Given the description of an element on the screen output the (x, y) to click on. 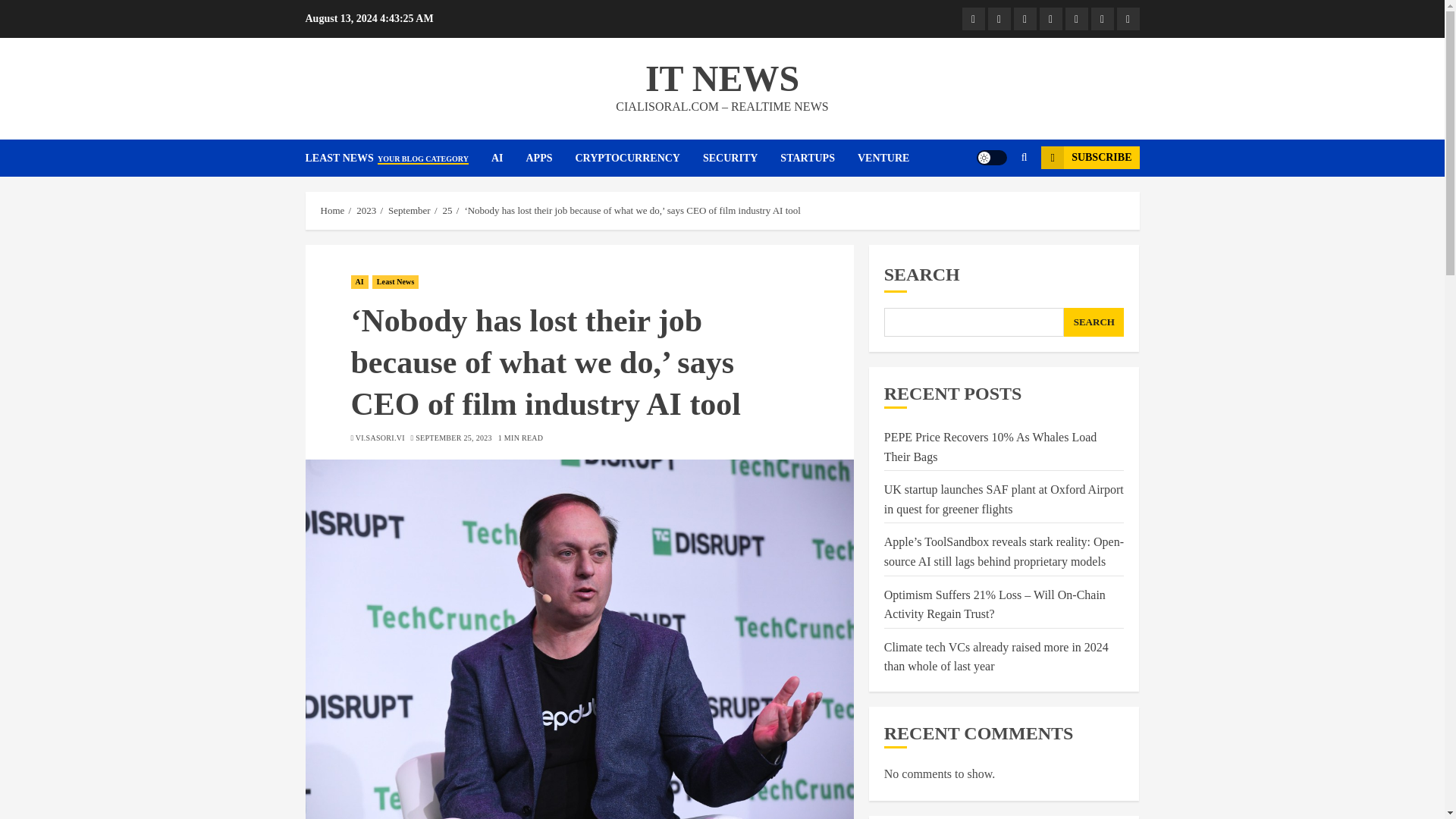
IT NEWS (722, 78)
STARTUPS (818, 157)
APPS (550, 157)
September (409, 210)
AI (508, 157)
VENTURE (882, 157)
Search (994, 203)
SEPTEMBER 25, 2023 (453, 438)
Cryptocurrency (1050, 18)
SECURITY (741, 157)
